Given the description of an element on the screen output the (x, y) to click on. 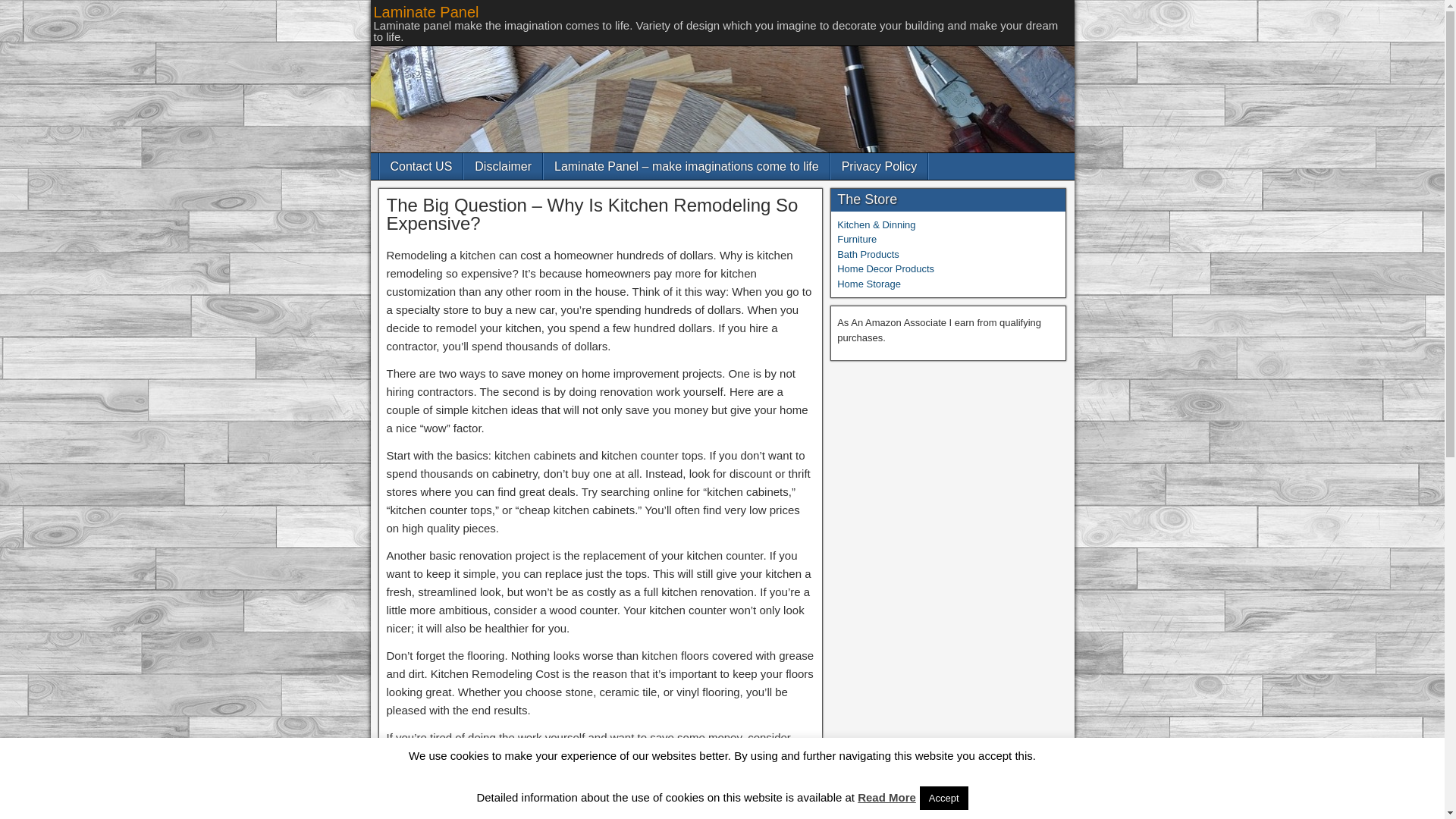
Furniture (856, 238)
Home Storage (869, 283)
Accept (944, 797)
Contact US (420, 166)
Disclaimer (502, 166)
Read More (886, 797)
Privacy Policy (879, 166)
Home Decor Products (885, 268)
Laminate Panel (425, 12)
Bath Products (868, 254)
